Given the description of an element on the screen output the (x, y) to click on. 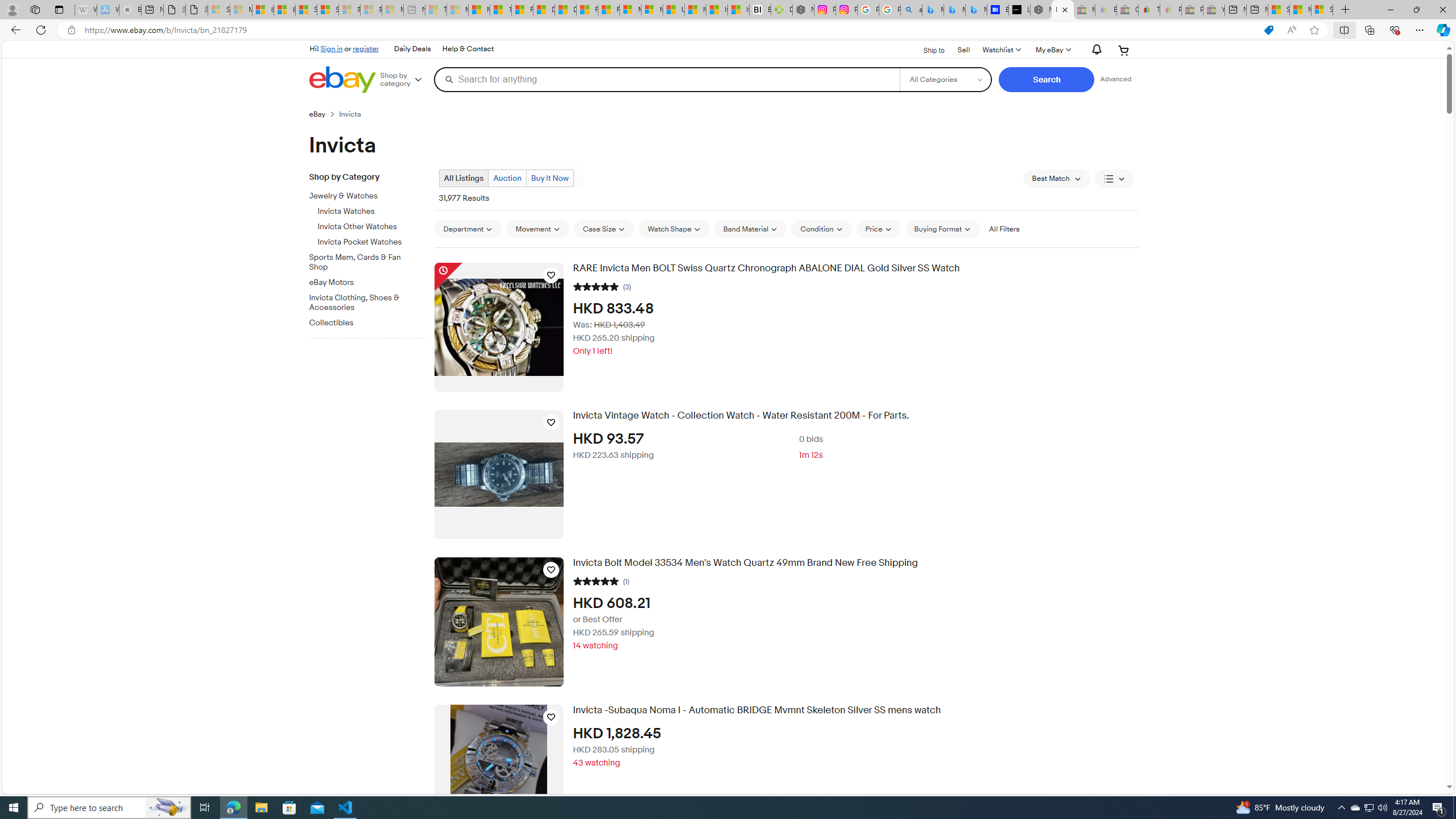
Microsoft account | Account Checkup - Sleeping (392, 9)
Your shopping cart (1123, 49)
Marine life - MSN - Sleeping (457, 9)
Nordace - Nordace Edin Collection (802, 9)
alabama high school quarterback dies - Search (911, 9)
Invicta Pocket Watches (371, 242)
eBay Motors (371, 280)
Invicta Other Watches (371, 226)
Search for anything (666, 78)
Watch Shape (673, 229)
All Listings Current view (464, 178)
My eBayExpand My eBay (1052, 49)
